Given the description of an element on the screen output the (x, y) to click on. 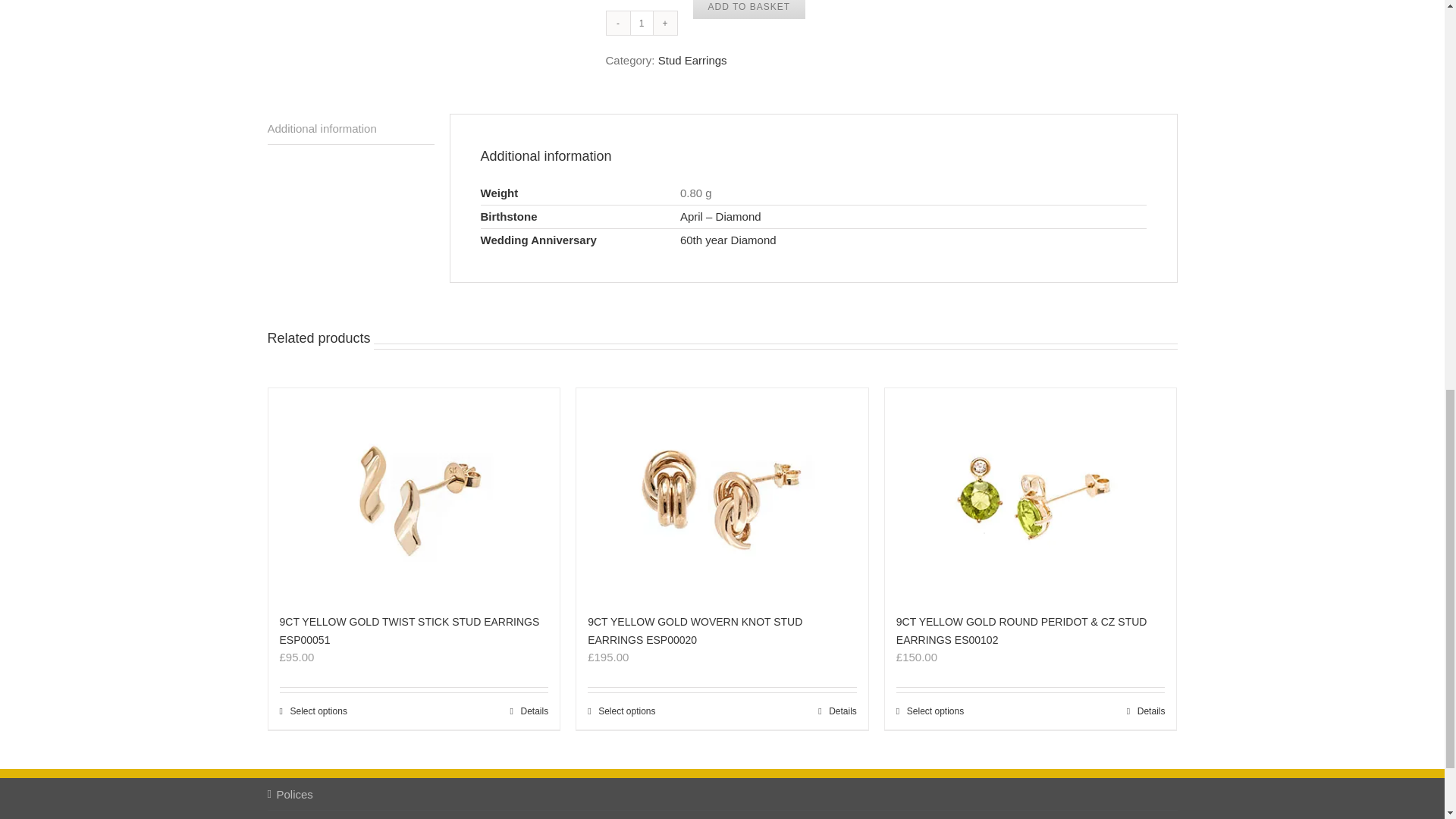
- (618, 23)
1 (640, 23)
